Given the description of an element on the screen output the (x, y) to click on. 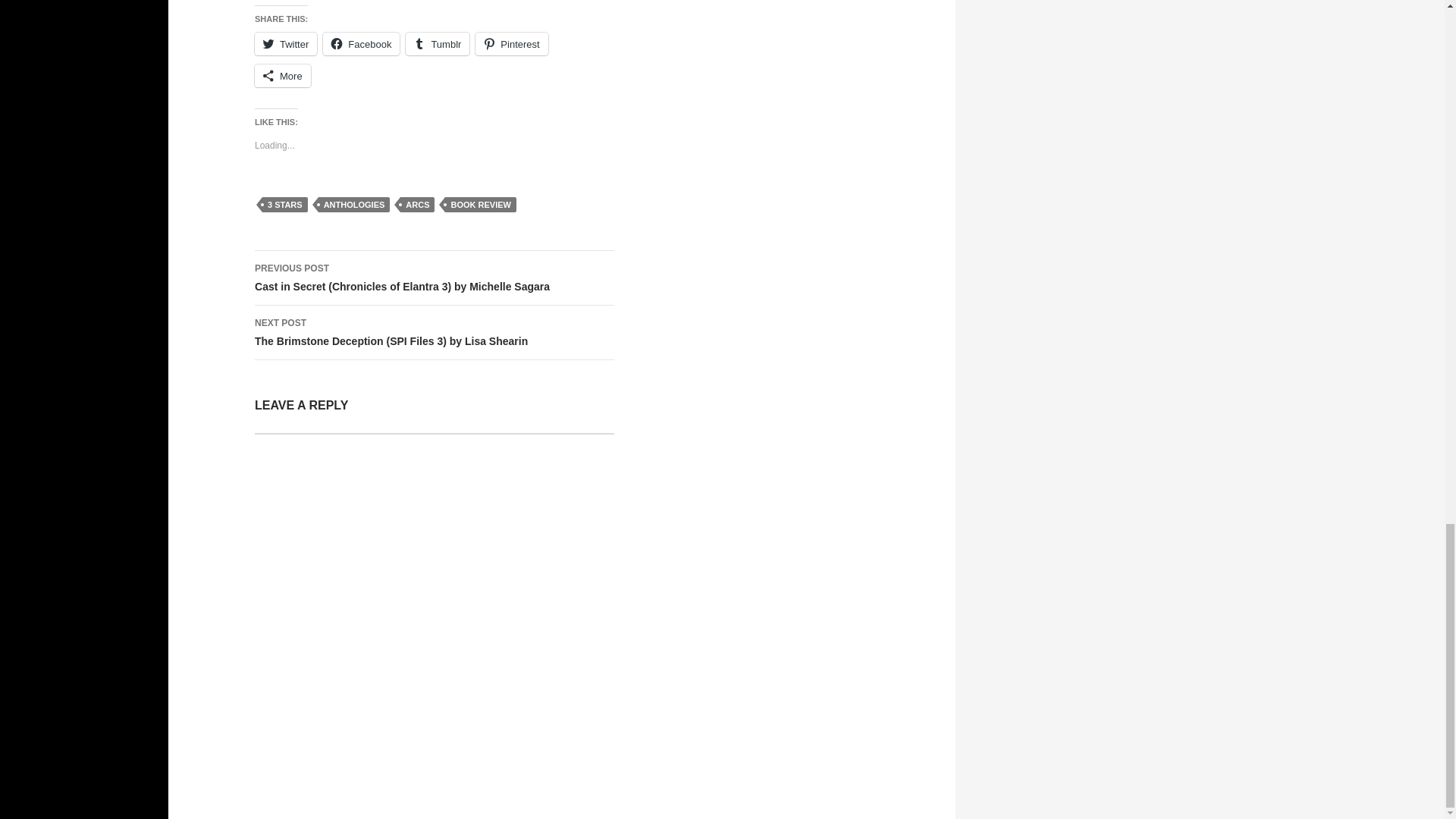
Click to share on Facebook (360, 43)
Tumblr (437, 43)
3 STARS (284, 204)
More (282, 75)
Twitter (285, 43)
Comment Form (434, 596)
Click to share on Twitter (285, 43)
Facebook (360, 43)
Pinterest (511, 43)
Click to share on Pinterest (511, 43)
